Given the description of an element on the screen output the (x, y) to click on. 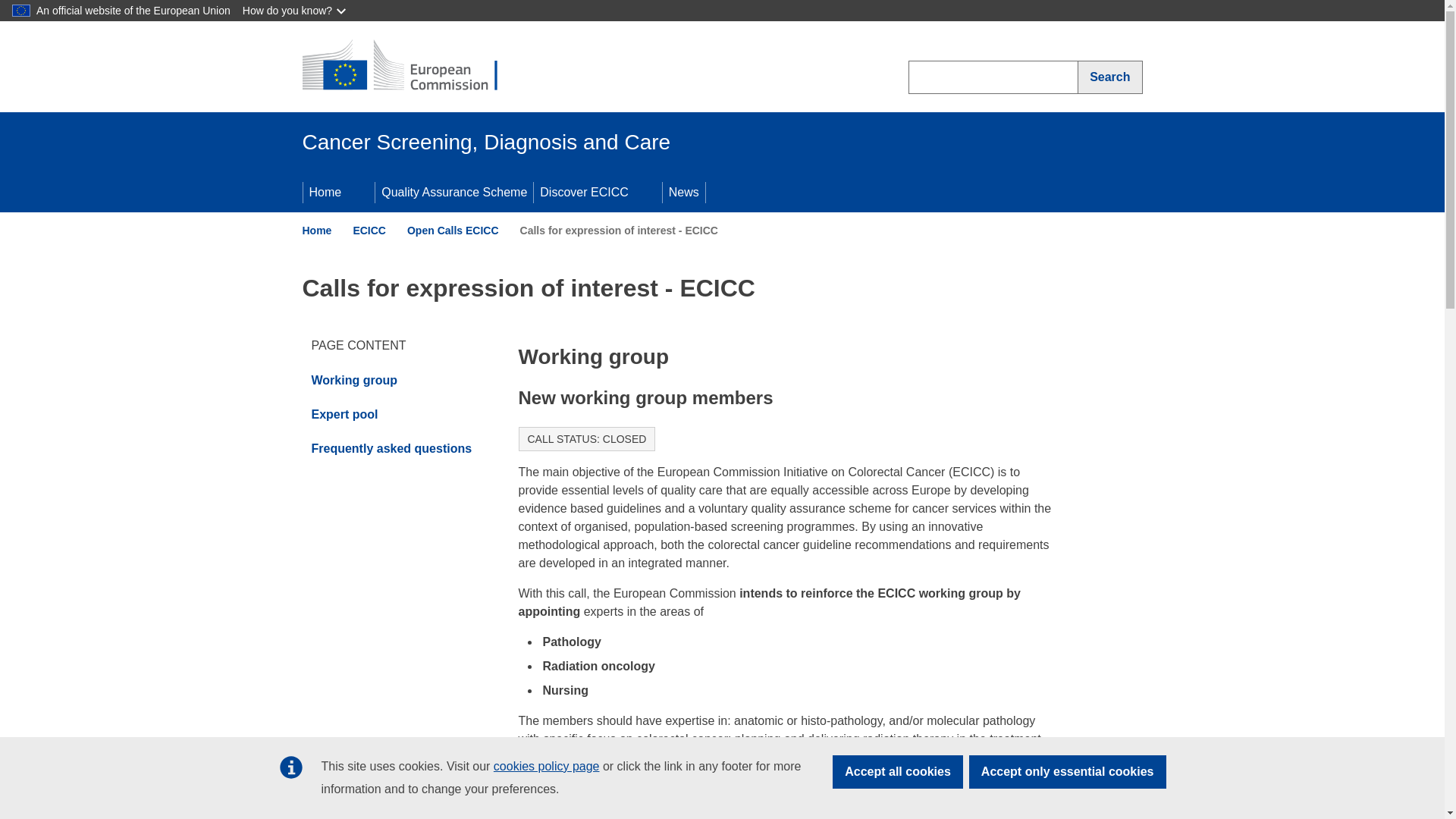
Discover ECICC (582, 192)
Home (316, 230)
Search (1109, 77)
Quality Assurance Scheme (453, 192)
Open Calls ECICC (453, 230)
Frequently asked questions (397, 449)
Accept all cookies (897, 771)
cookies policy page (546, 766)
How do you know? (295, 10)
Accept only essential cookies (1067, 771)
News (683, 192)
European Commission (411, 66)
Home (323, 192)
Working group (397, 380)
Expert pool (397, 414)
